Given the description of an element on the screen output the (x, y) to click on. 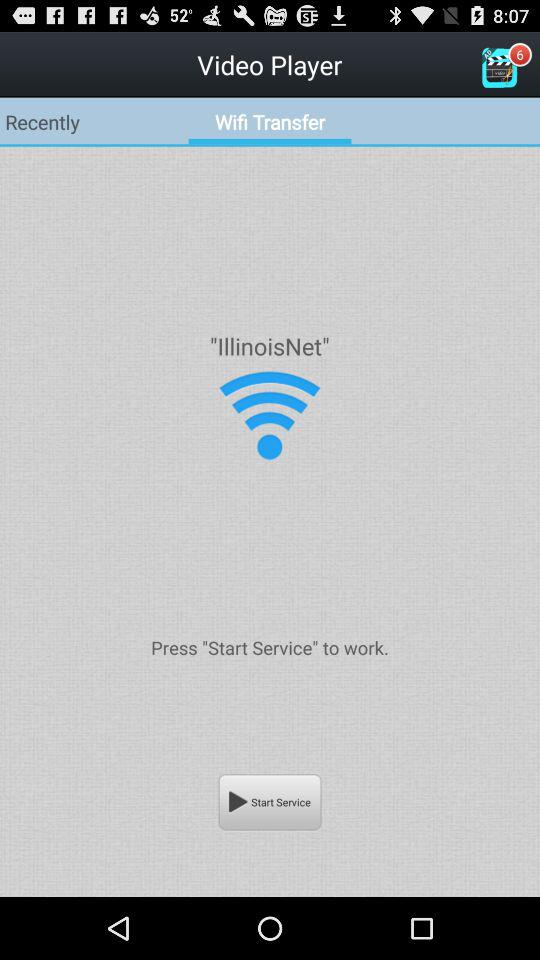
upload or download media (269, 415)
